Given the description of an element on the screen output the (x, y) to click on. 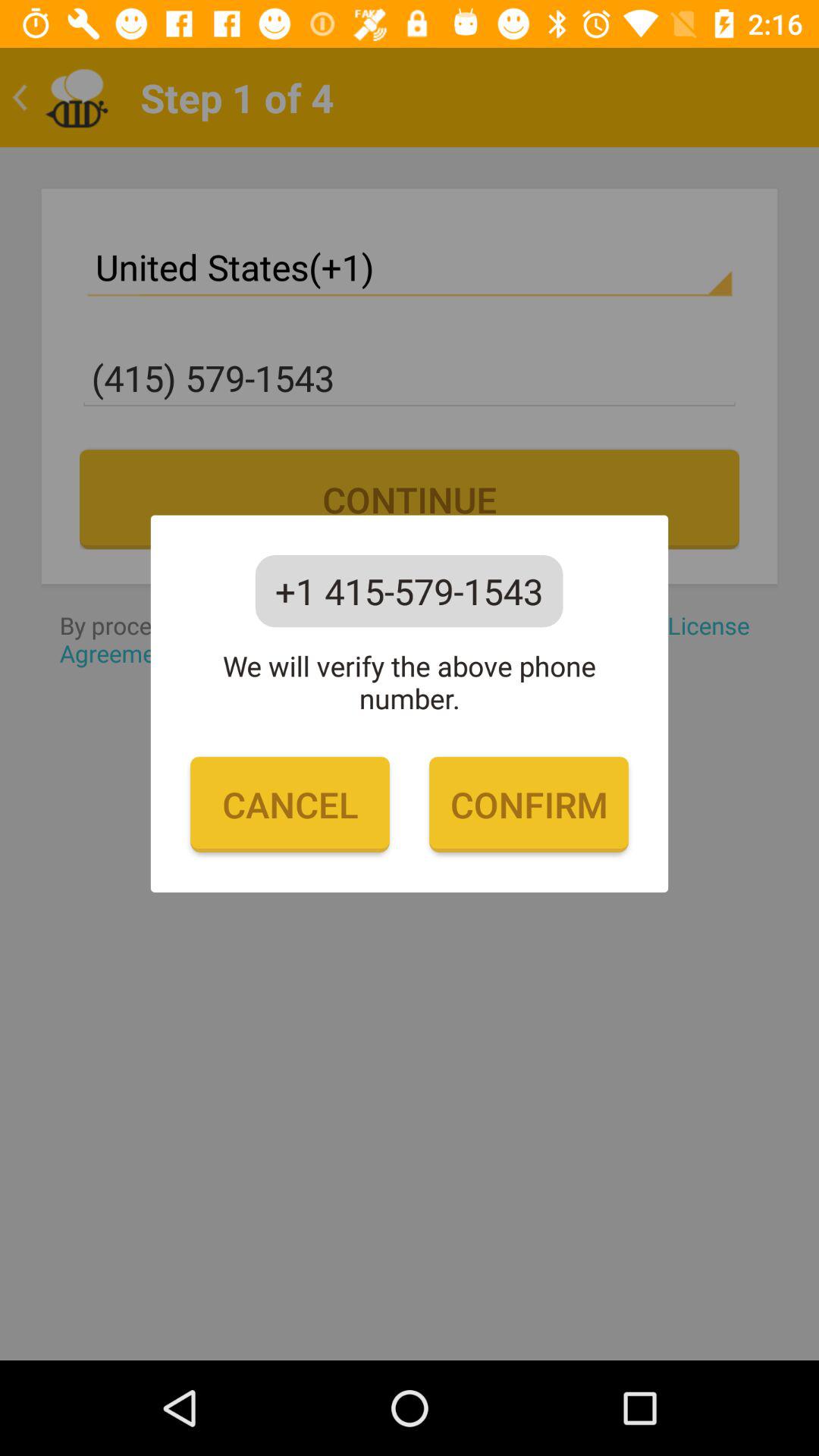
open icon to the right of cancel (528, 804)
